Given the description of an element on the screen output the (x, y) to click on. 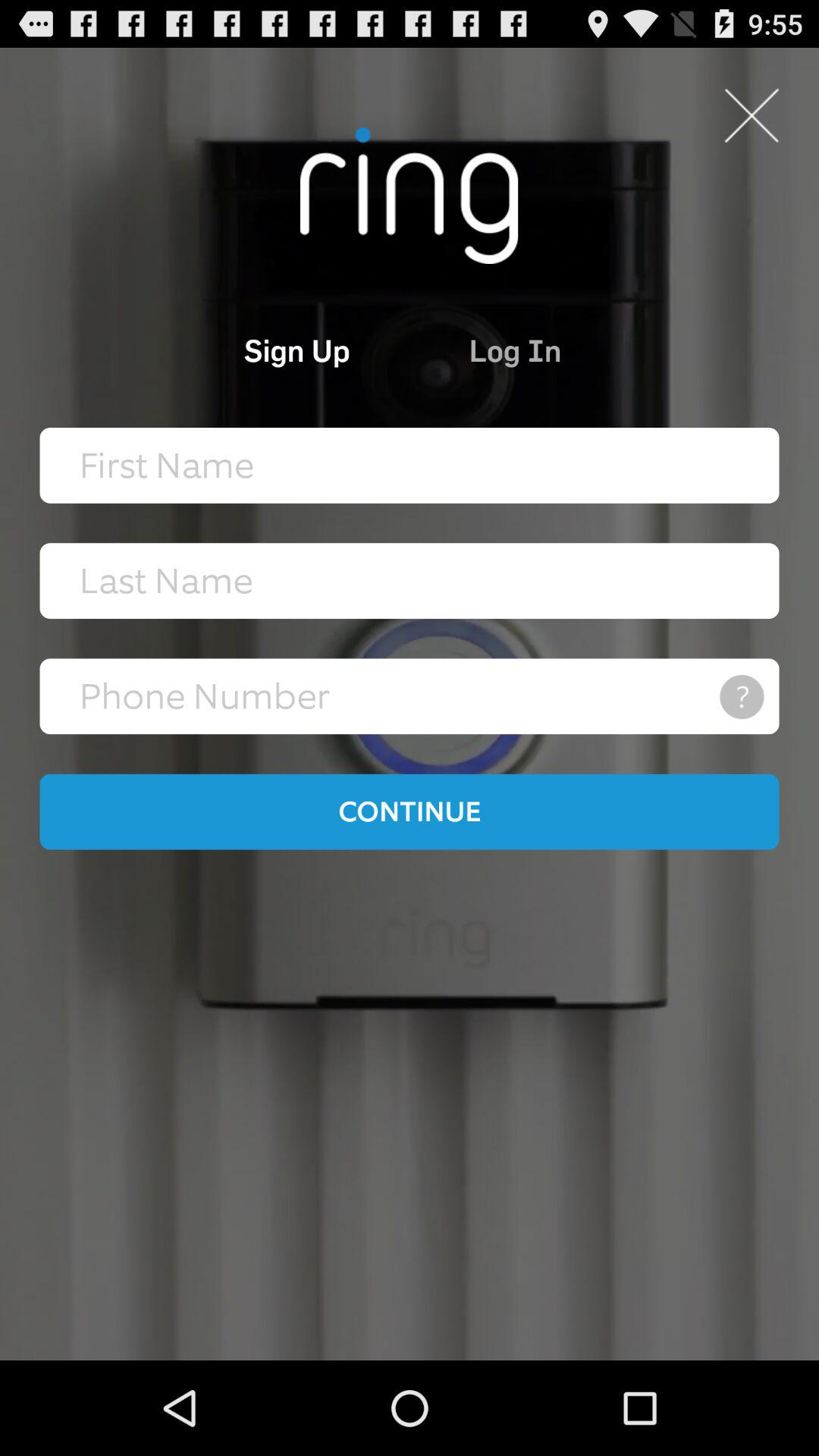
flip until continue item (409, 811)
